Given the description of an element on the screen output the (x, y) to click on. 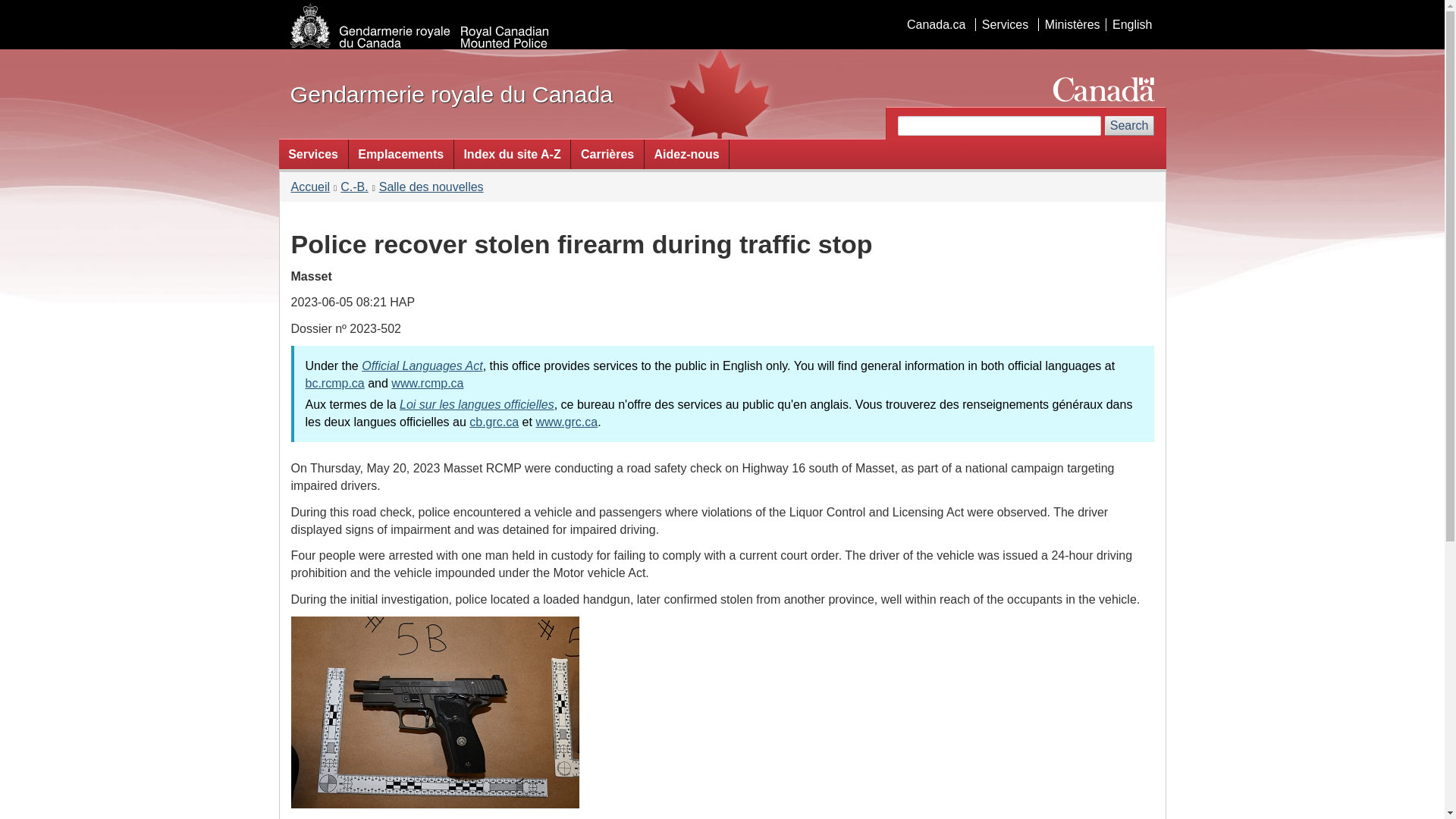
Gendarmerie royale du Canada (450, 94)
Services (1004, 24)
Skip to main content (725, 11)
Services (313, 153)
Emplacements (400, 153)
C.-B. (354, 186)
www.grc.ca (565, 421)
Official Languages Act (422, 365)
Search (1129, 125)
Index du site A-Z (512, 153)
